Given the description of an element on the screen output the (x, y) to click on. 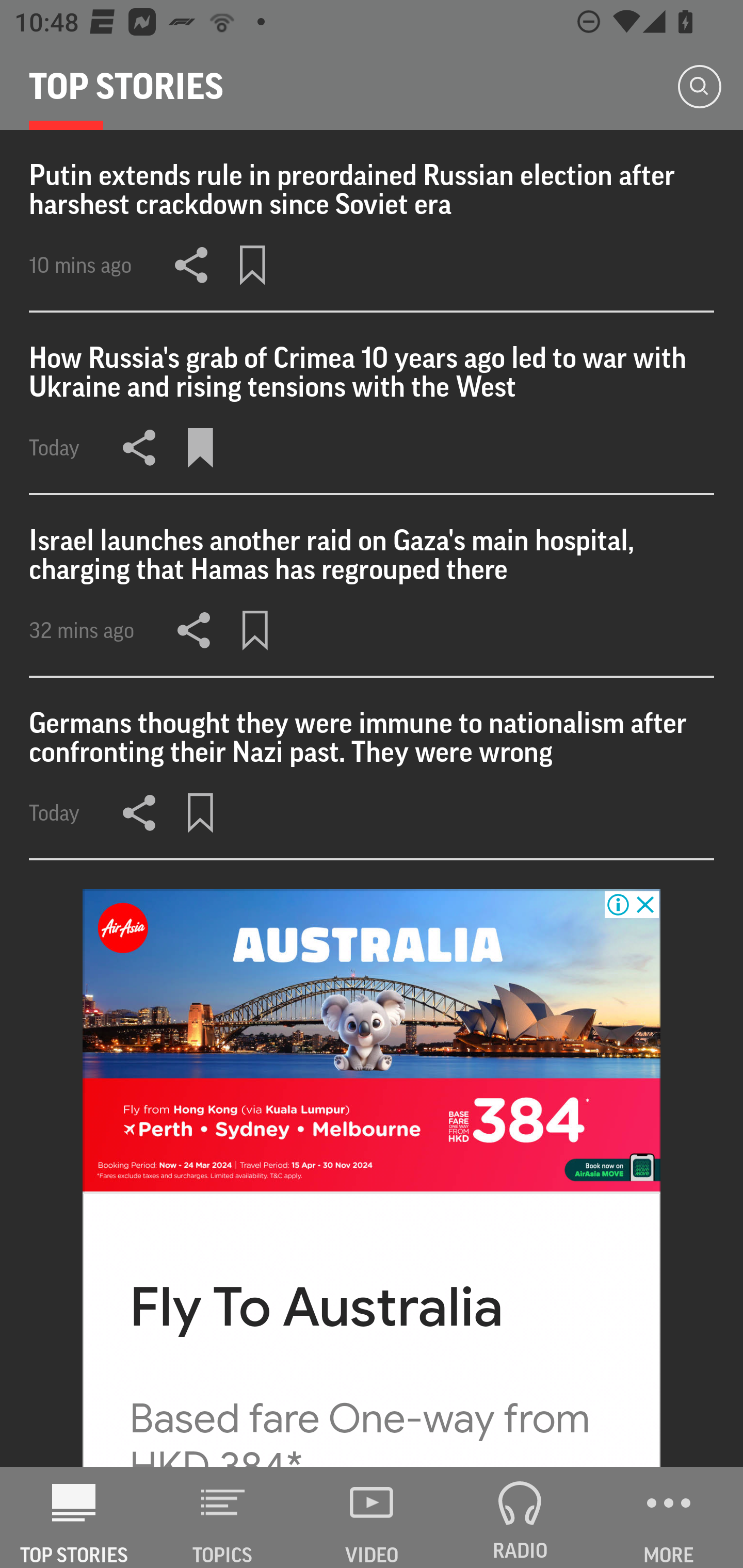
%3Ffrom%3DHKG (371, 1041)
Fly To Australia (317, 1307)
AP News TOP STORIES (74, 1517)
TOPICS (222, 1517)
VIDEO (371, 1517)
RADIO (519, 1517)
MORE (668, 1517)
